Given the description of an element on the screen output the (x, y) to click on. 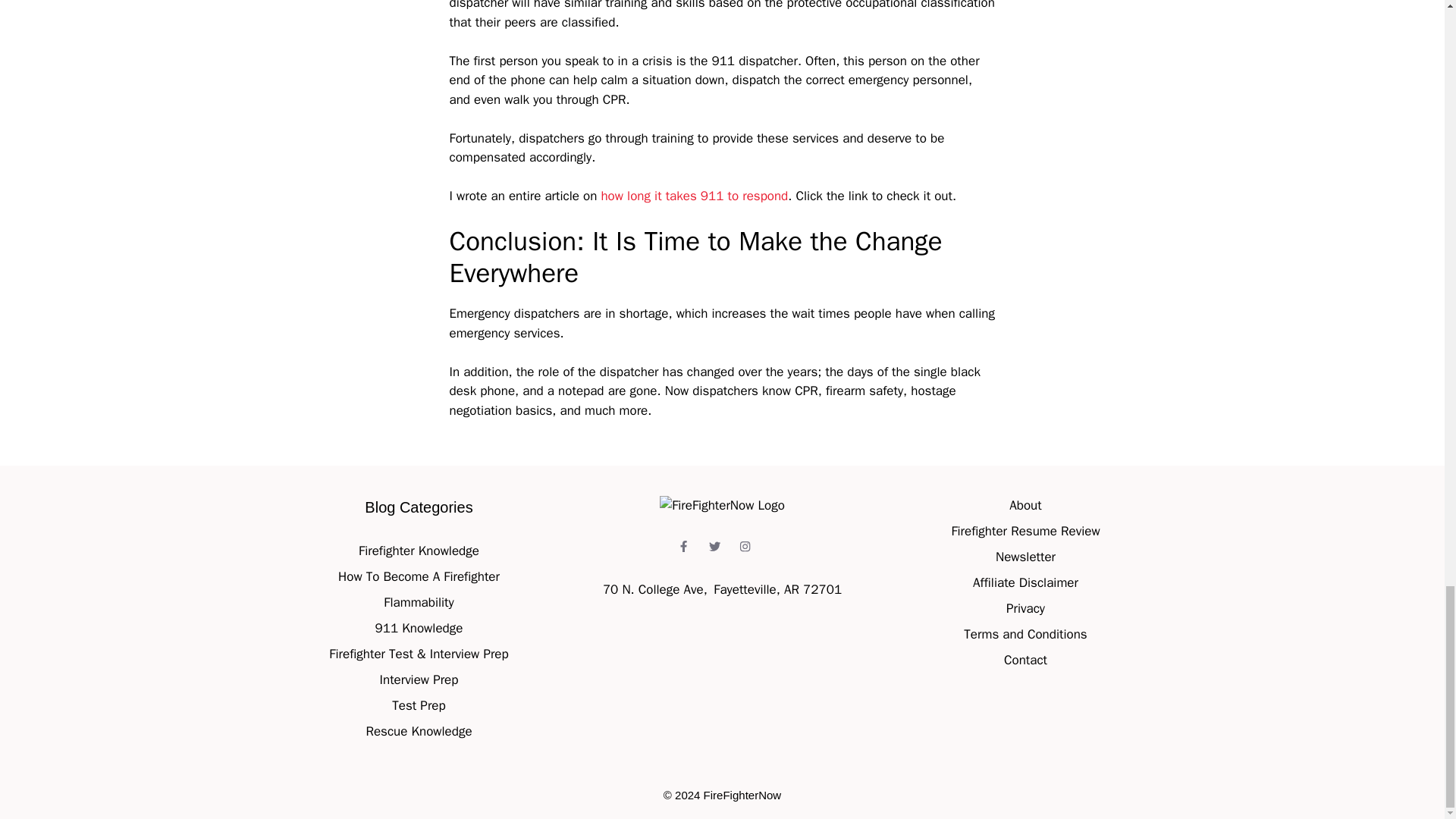
Terms and Conditions (1024, 634)
911 Knowledge (419, 627)
how long it takes 911 to respond (693, 195)
Firefighter Resume Review (1024, 530)
Privacy (1025, 608)
Flammability (418, 602)
Test Prep (418, 705)
Firefighter Knowledge (418, 550)
Newsletter (1025, 556)
Rescue Knowledge (418, 731)
Affiliate Disclaimer (1025, 582)
Contact (1025, 659)
Interview Prep (419, 679)
How To Become A Firefighter (418, 576)
About (1025, 505)
